Given the description of an element on the screen output the (x, y) to click on. 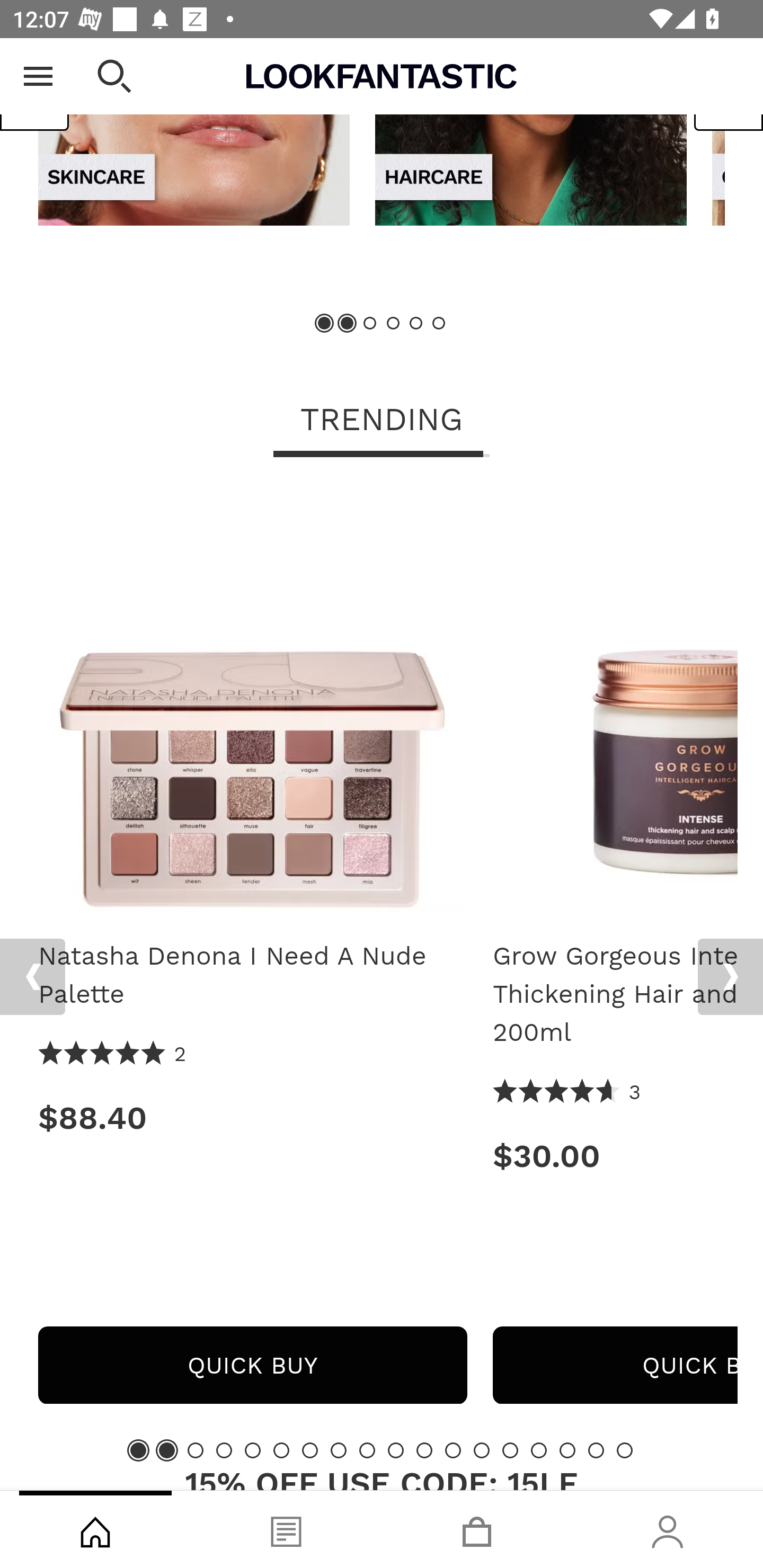
Previous (35, 90)
Showing Slide 1 (Current Item) (324, 323)
Showing Slide 2 (Current Item) (347, 323)
Slide 3 (369, 323)
Slide 4 (393, 323)
Slide 5 (415, 323)
Slide 6 (437, 323)
TRENDING (381, 420)
Natasha Denona I Need A Nude Palette (252, 703)
Natasha Denona I Need A Nude Palette (252, 975)
Previous (32, 976)
Next (730, 976)
5.0 Stars 2 Reviews (112, 1054)
4.67 Stars 3 Reviews (567, 1091)
Price: $88.40 (252, 1117)
Price: $30.00 (614, 1156)
QUICK BUY NATASHA DENONA I NEED A NUDE PALETTE (252, 1364)
Showing Slide 1 (Current Item) (138, 1449)
Showing Slide 2 (Current Item) (166, 1449)
Slide 3 (195, 1449)
Slide 4 (223, 1449)
Slide 5 (252, 1449)
Slide 6 (281, 1449)
Slide 7 (310, 1449)
Slide 8 (338, 1449)
Slide 9 (367, 1449)
Slide 10 (395, 1449)
Slide 11 (424, 1449)
Slide 12 (452, 1449)
Slide 13 (481, 1449)
Slide 14 (510, 1449)
Slide 15 (539, 1449)
Slide 16 (567, 1449)
Slide 17 (596, 1449)
Slide 18 (624, 1449)
Shop, tab, 1 of 4 (95, 1529)
Blog, tab, 2 of 4 (285, 1529)
Basket, tab, 3 of 4 (476, 1529)
Account, tab, 4 of 4 (667, 1529)
